Given the description of an element on the screen output the (x, y) to click on. 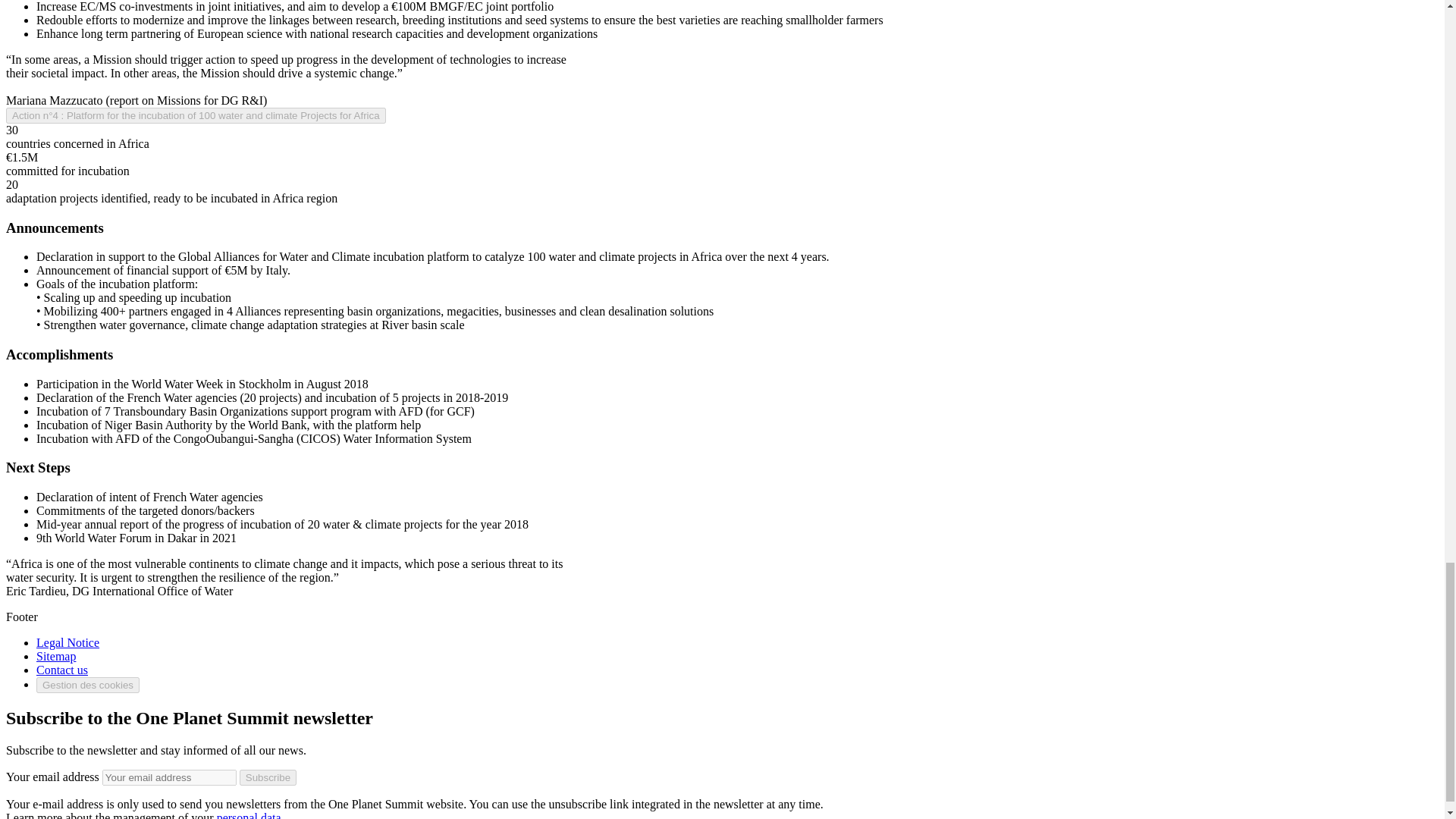
Contact us (61, 669)
Gestion des cookies (87, 684)
Subscribe (268, 777)
Sitemap (55, 656)
Legal Notice (67, 642)
